Given the description of an element on the screen output the (x, y) to click on. 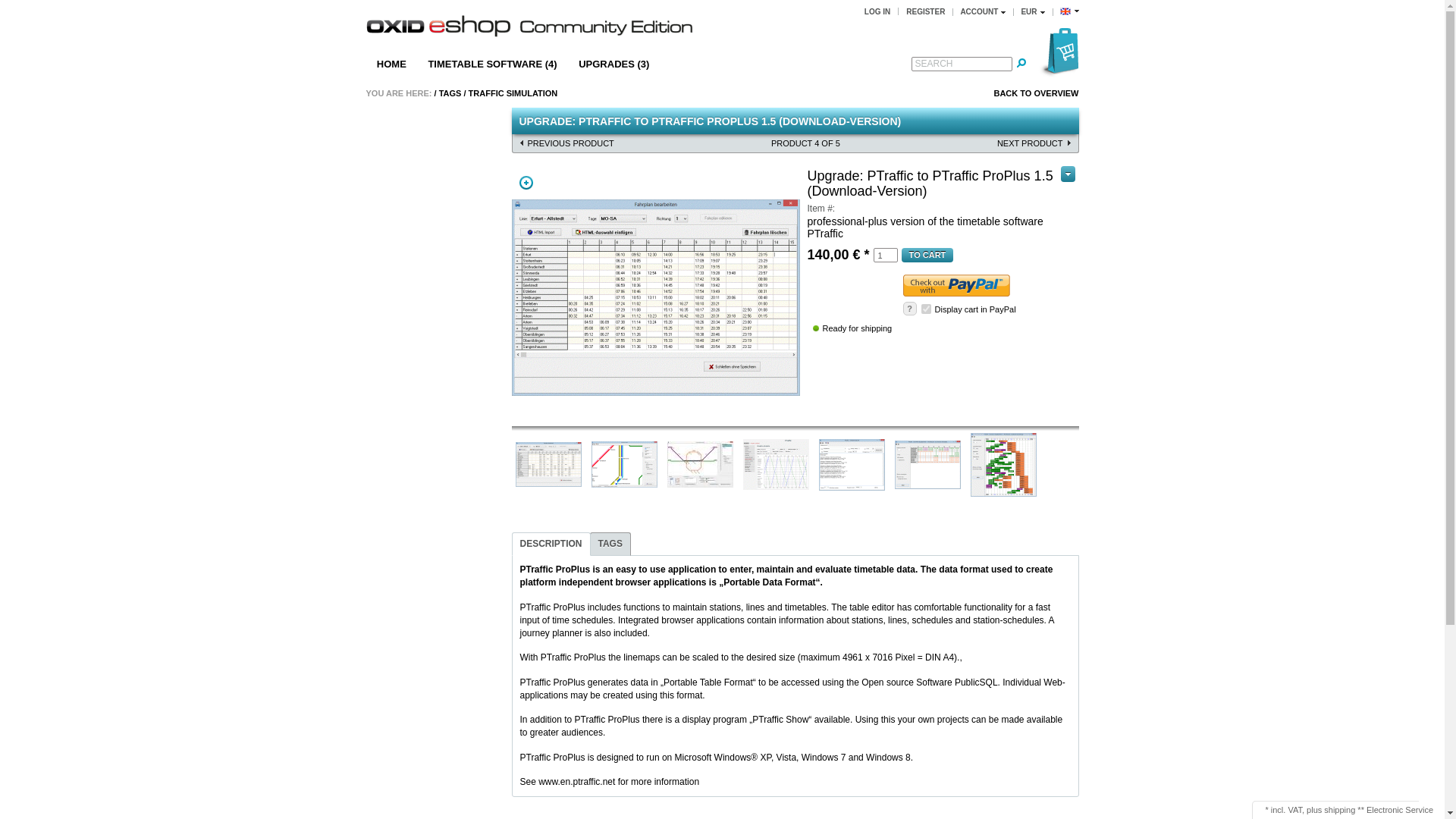
ACCOUNT (982, 11)
TAGS (450, 92)
1 (885, 255)
Register (924, 11)
TRAFFIC SIMULATION (512, 92)
EUR (1031, 11)
Zoom (525, 182)
EUR (1031, 11)
NEXT PRODUCT (1030, 143)
LOG IN (876, 11)
English (1068, 11)
Tags (450, 92)
REGISTER (924, 11)
Traffic simulation (512, 92)
